Given the description of an element on the screen output the (x, y) to click on. 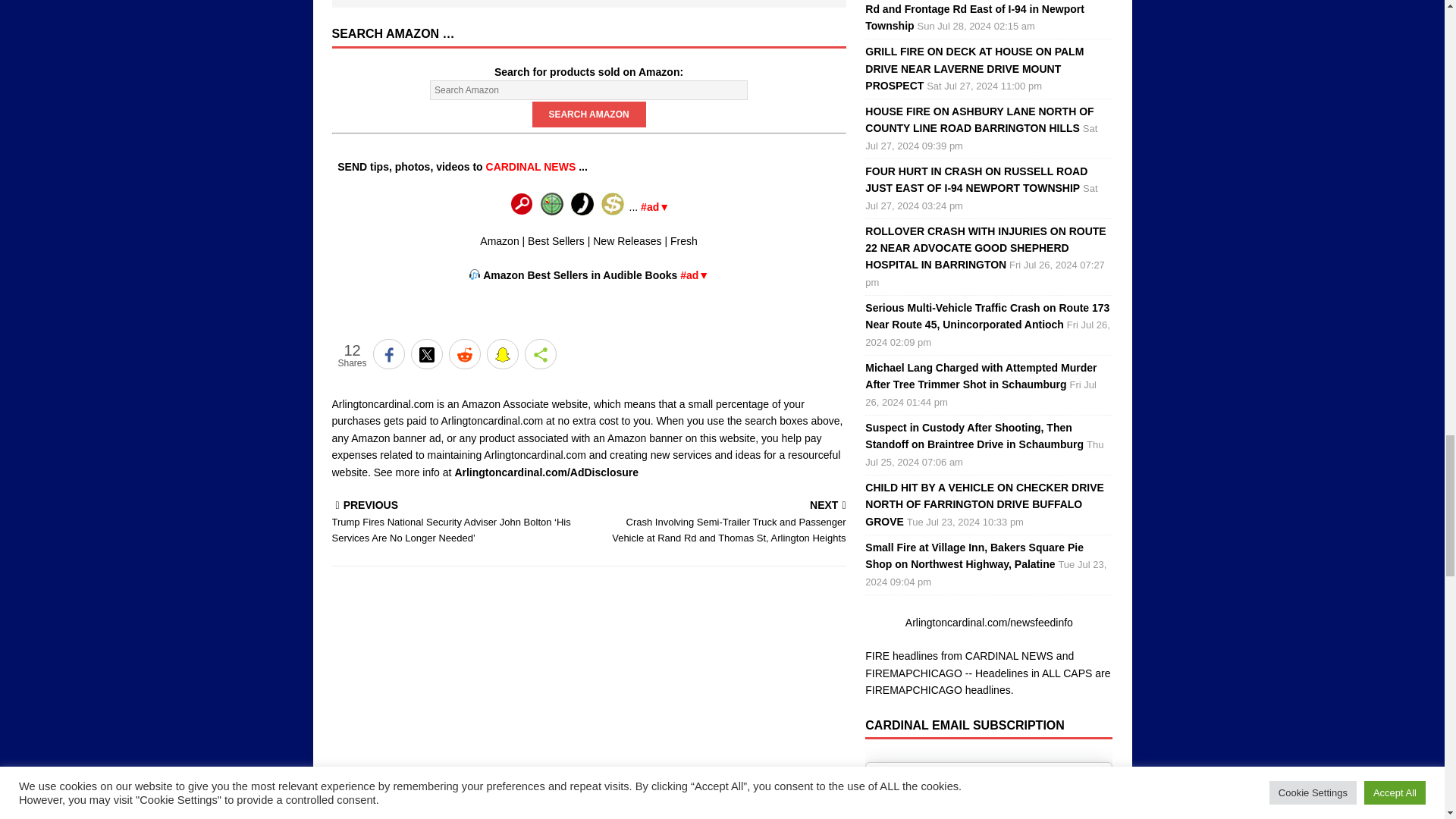
Search Amazon (589, 114)
